Given the description of an element on the screen output the (x, y) to click on. 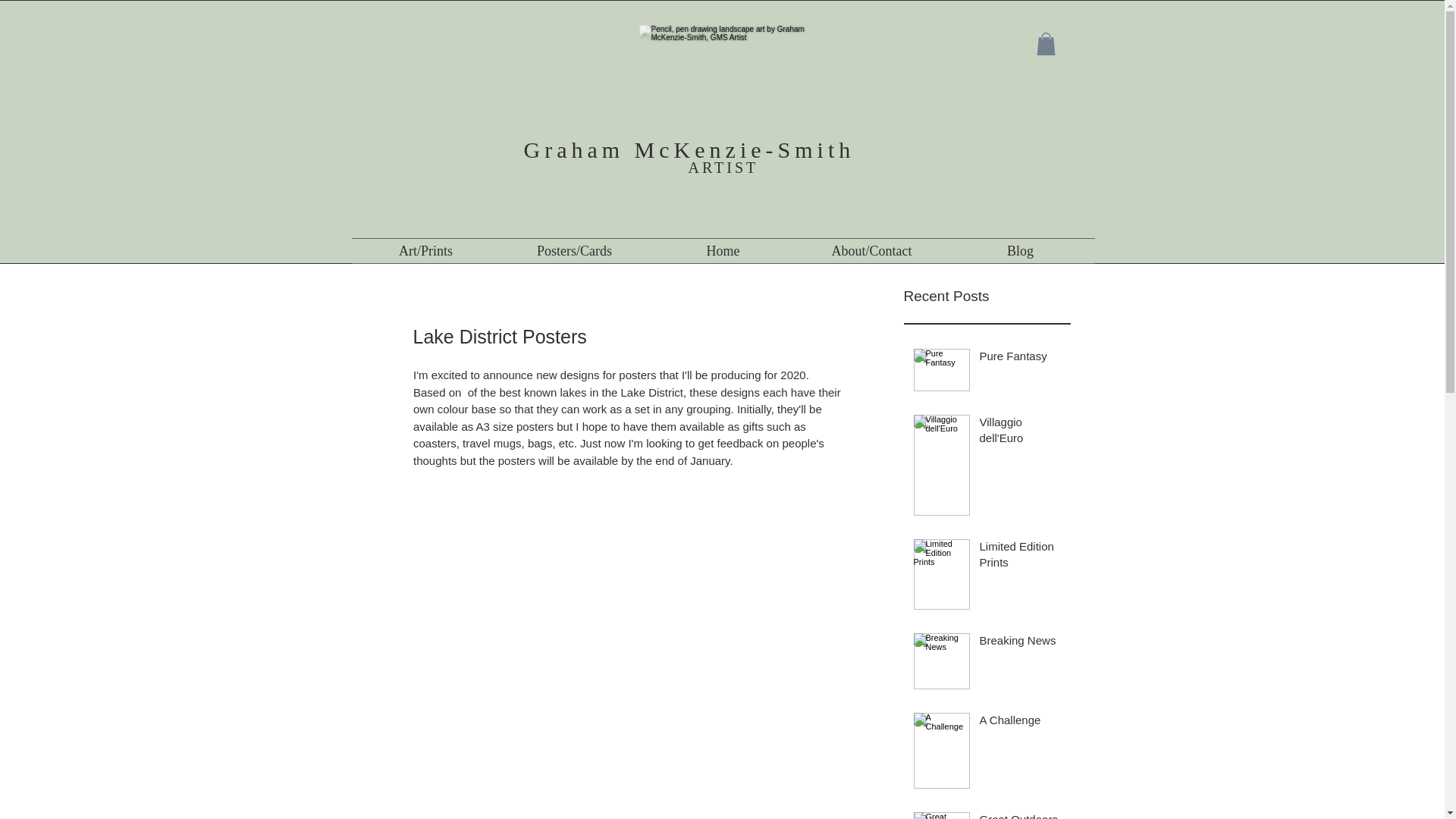
Great Outdoors (1020, 815)
Villaggio dell'Euro (1020, 433)
Breaking News (1020, 643)
Home (723, 250)
Pure Fantasy (1020, 359)
Limited Edition Prints (1020, 557)
Blog (1020, 250)
A Challenge (1020, 722)
